Given the description of an element on the screen output the (x, y) to click on. 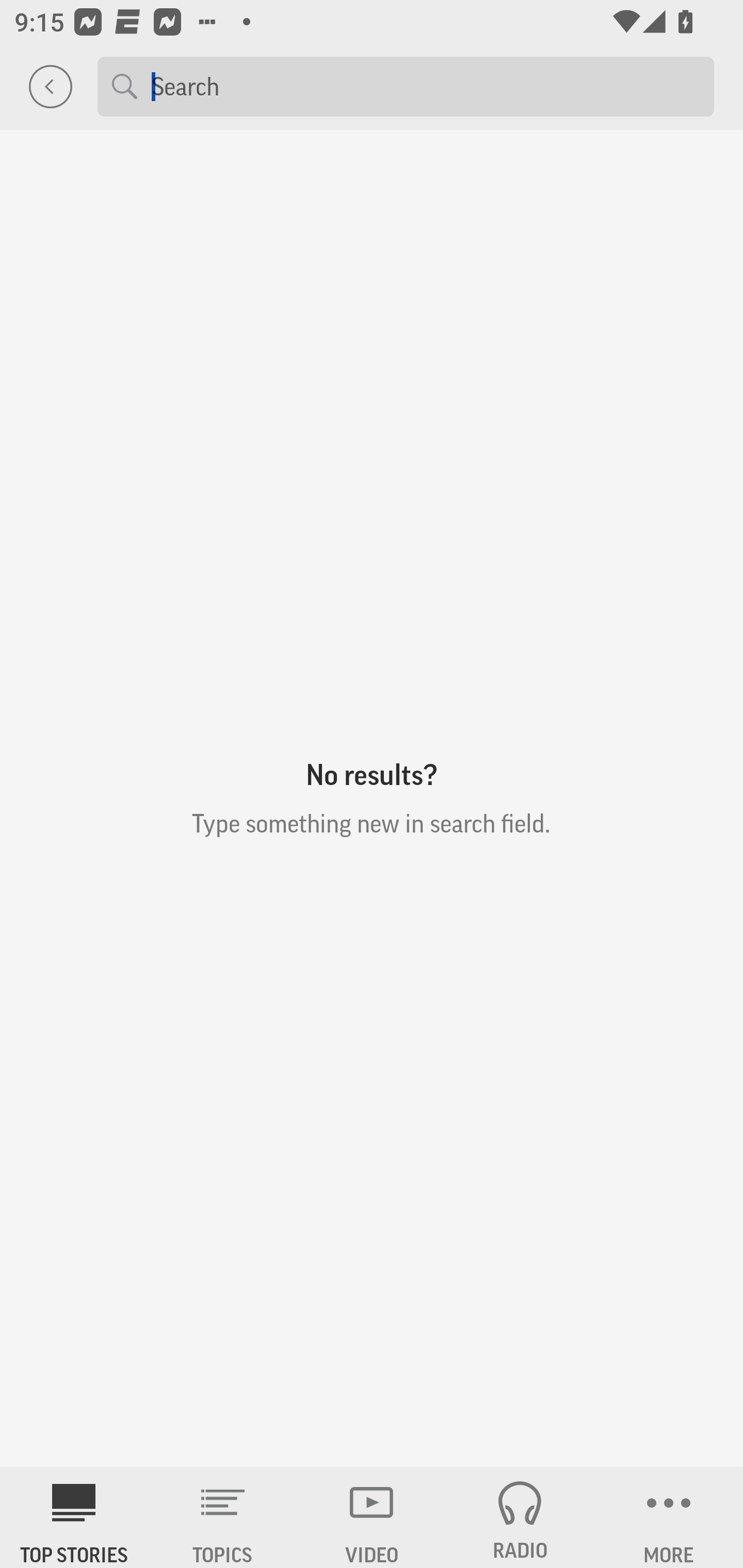
Search (425, 86)
AP News TOP STORIES (74, 1517)
TOPICS (222, 1517)
VIDEO (371, 1517)
RADIO (519, 1517)
MORE (668, 1517)
